Given the description of an element on the screen output the (x, y) to click on. 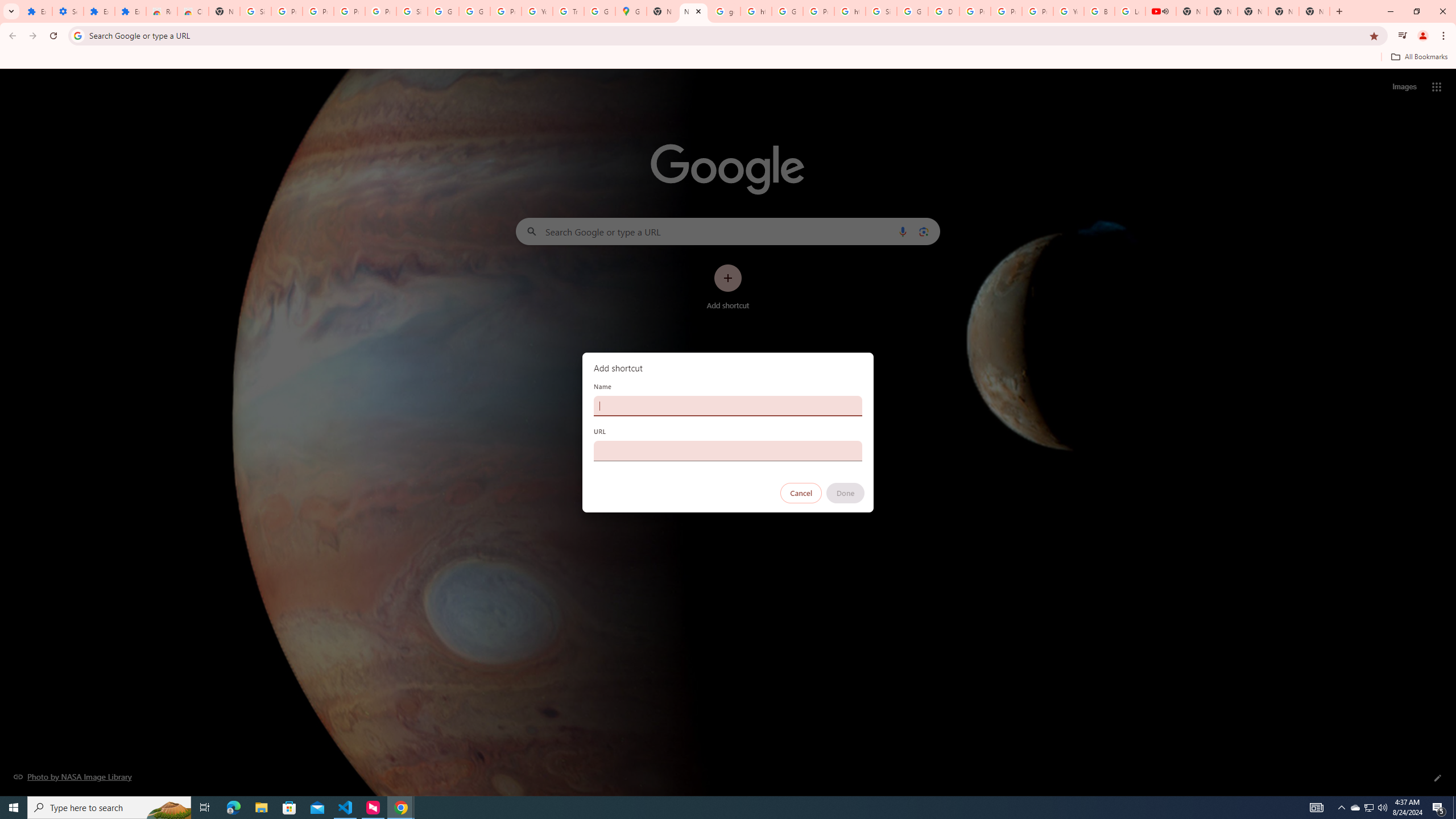
YouTube (1068, 11)
New Tab (1314, 11)
New Tab (223, 11)
Sign in - Google Accounts (881, 11)
Chrome Web Store - Themes (192, 11)
Done (845, 493)
https://scholar.google.com/ (849, 11)
Sign in - Google Accounts (411, 11)
https://scholar.google.com/ (756, 11)
